Given the description of an element on the screen output the (x, y) to click on. 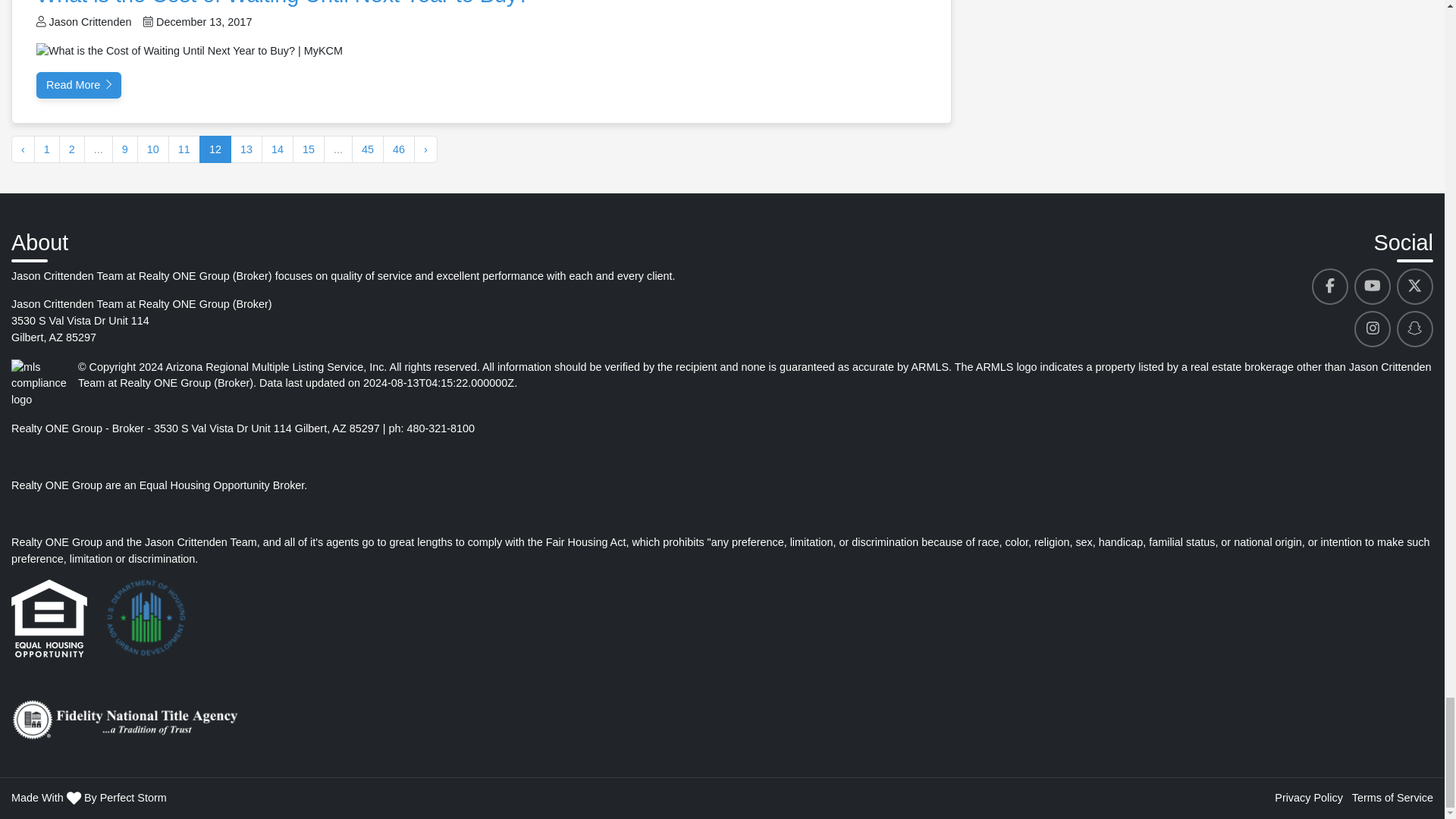
9 (125, 148)
Read More (78, 85)
What is the Cost of Waiting Until Next Year to Buy? (282, 3)
2 (71, 148)
13 (246, 148)
11 (184, 148)
10 (152, 148)
1 (46, 148)
14 (278, 148)
